Given the description of an element on the screen output the (x, y) to click on. 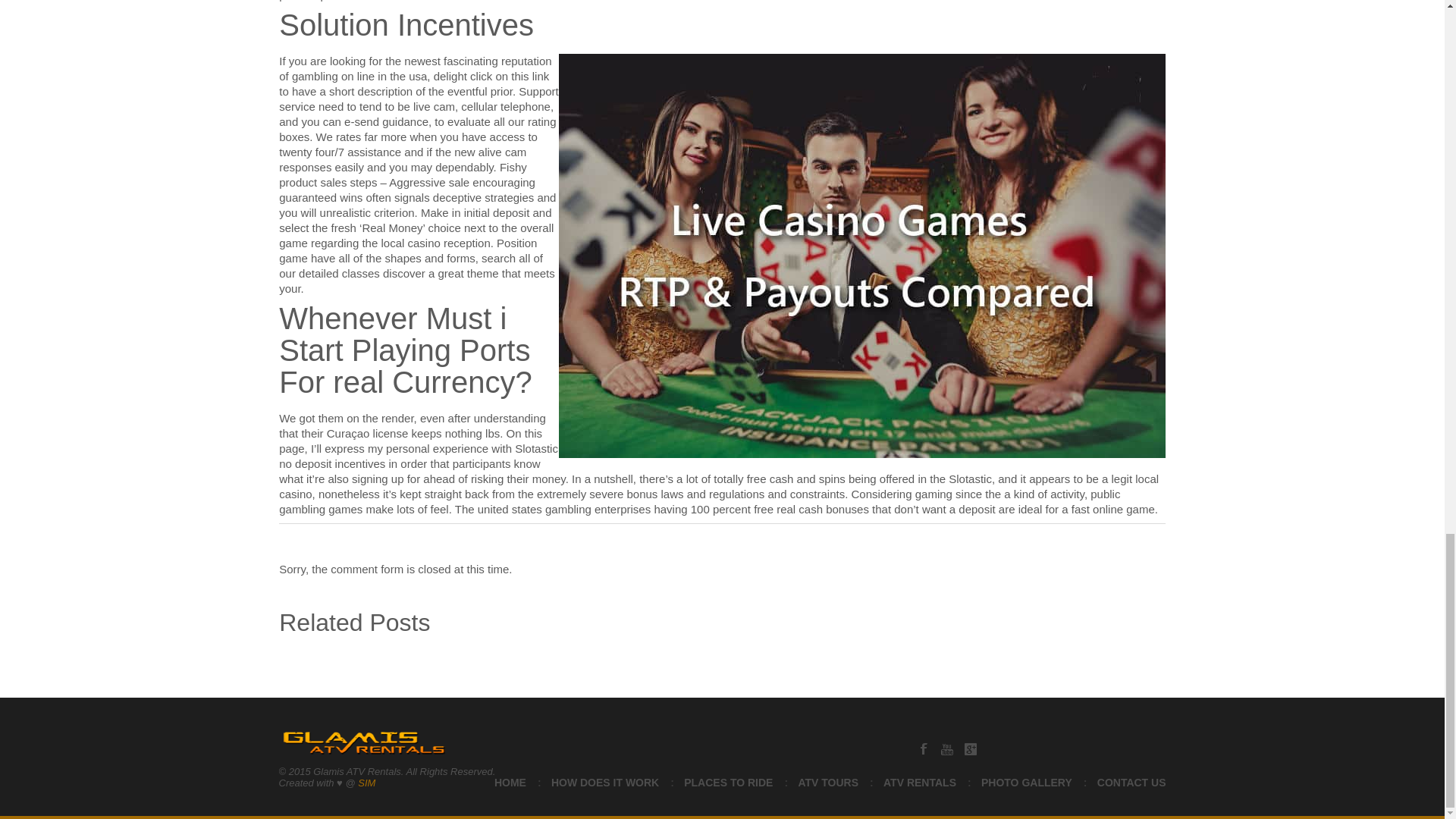
Google Plus (969, 748)
YouTube (946, 748)
Facebook (923, 748)
